Given the description of an element on the screen output the (x, y) to click on. 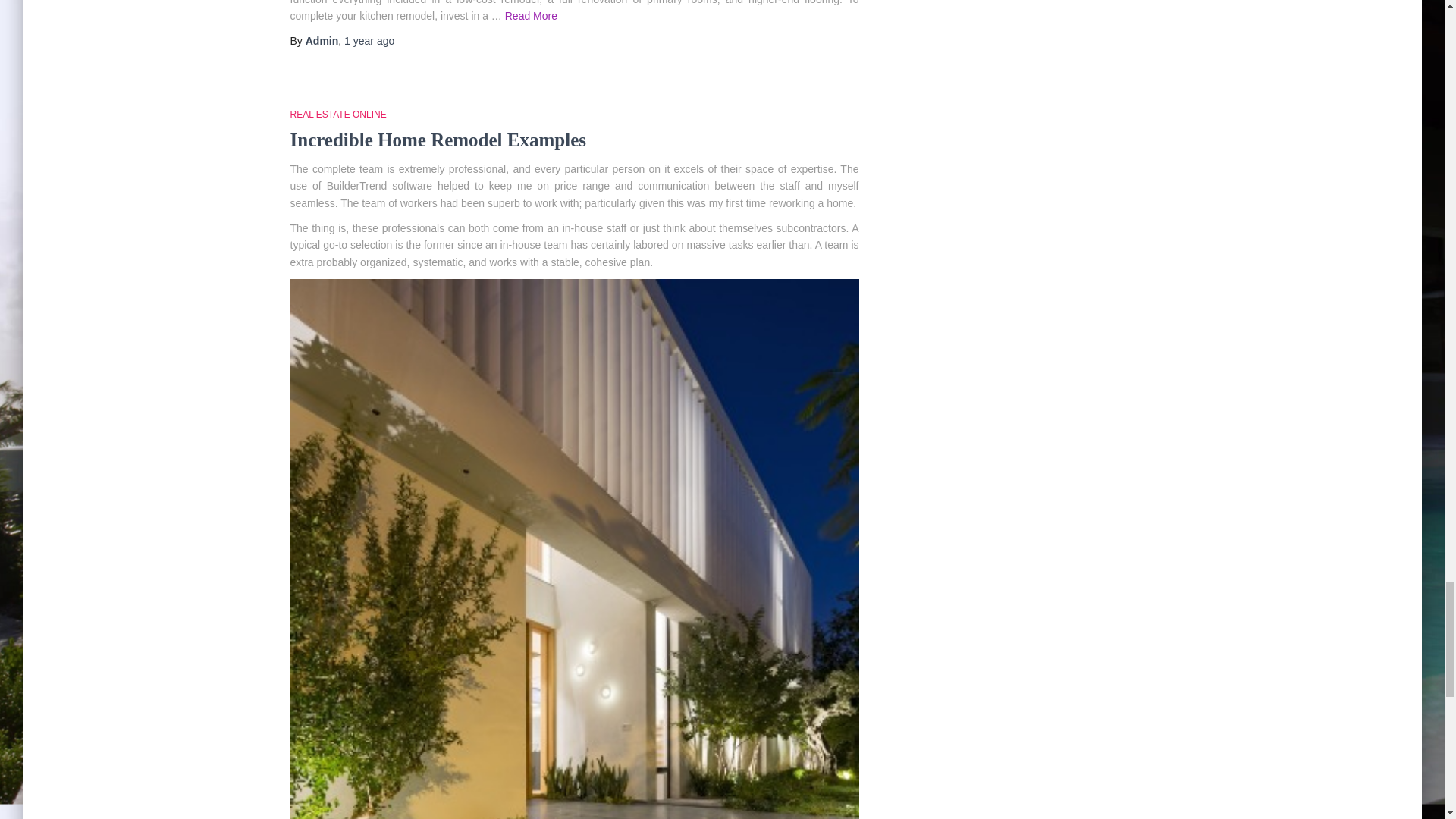
REAL ESTATE ONLINE (337, 113)
Read More (531, 15)
1 year ago (368, 40)
Incredible Home Remodel Examples (437, 139)
Admin (322, 40)
